Given the description of an element on the screen output the (x, y) to click on. 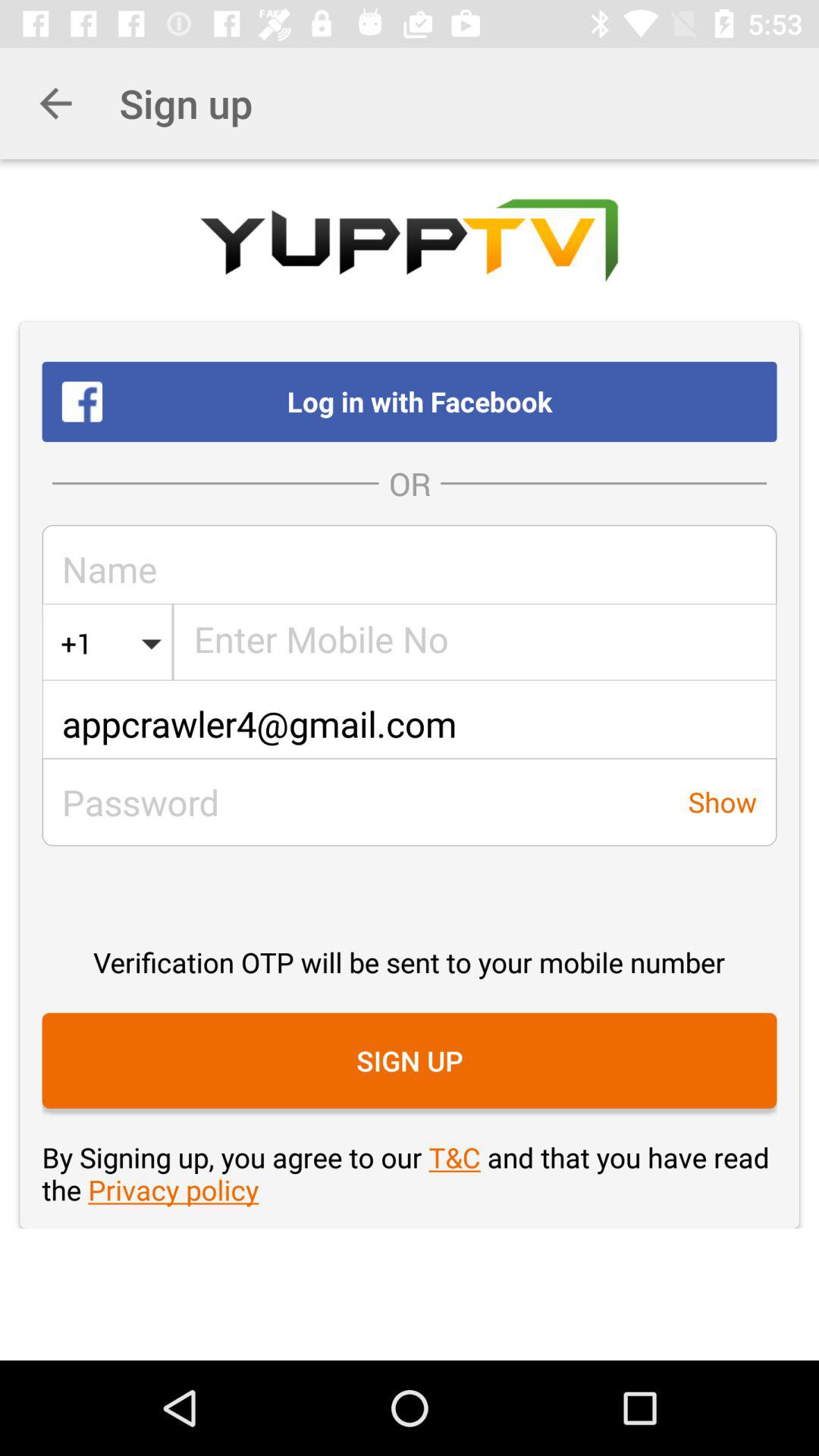
press log in with item (409, 401)
